Given the description of an element on the screen output the (x, y) to click on. 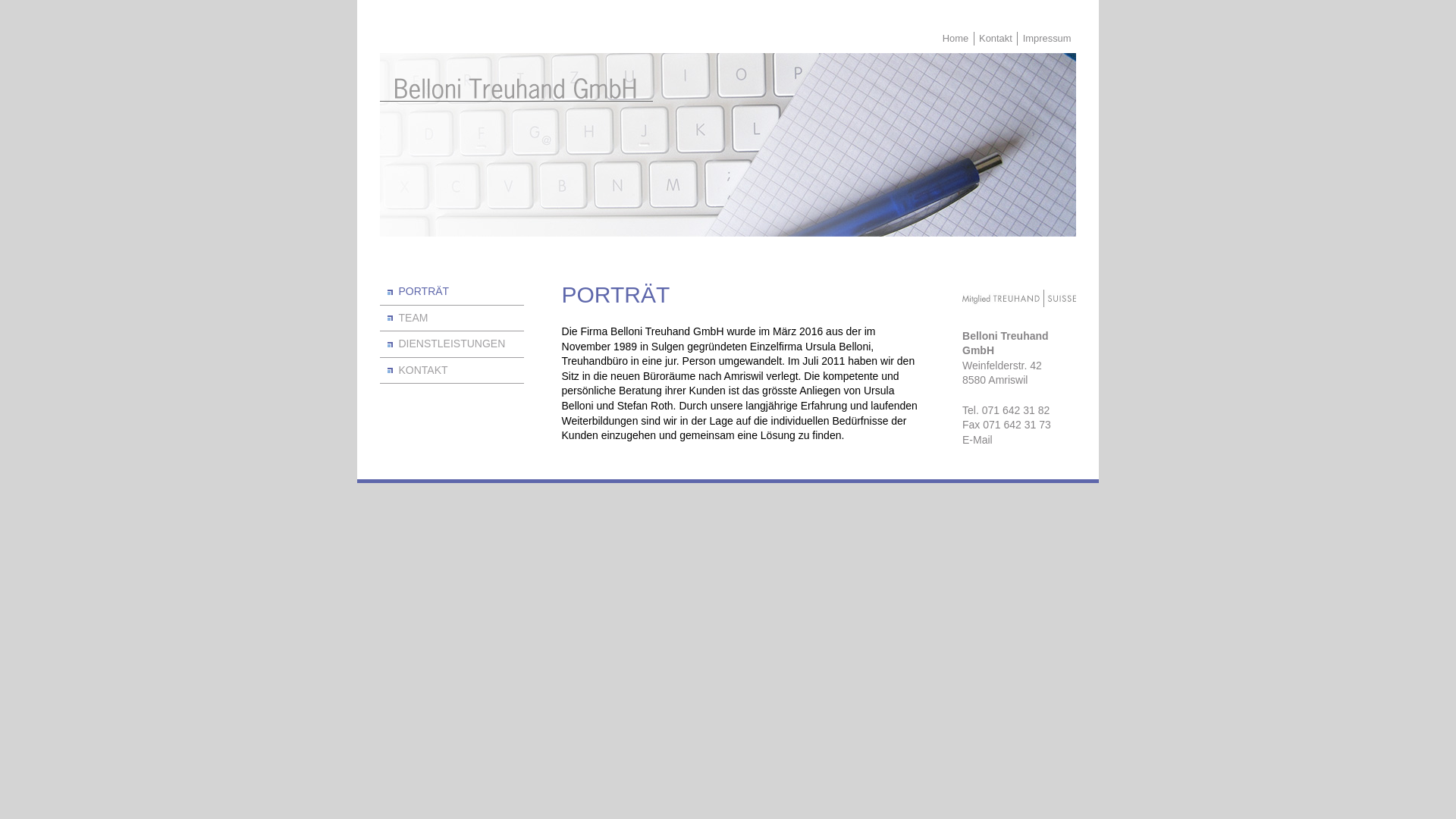
Kontakt Element type: text (995, 38)
Home Element type: text (954, 38)
DIENSTLEISTUNGEN Element type: text (451, 344)
Belloni Treuhand GmbH Element type: text (515, 90)
E-Mail Element type: text (1019, 440)
TEAM Element type: text (451, 318)
KONTAKT Element type: text (451, 370)
Impressum Element type: text (1046, 38)
